Given the description of an element on the screen output the (x, y) to click on. 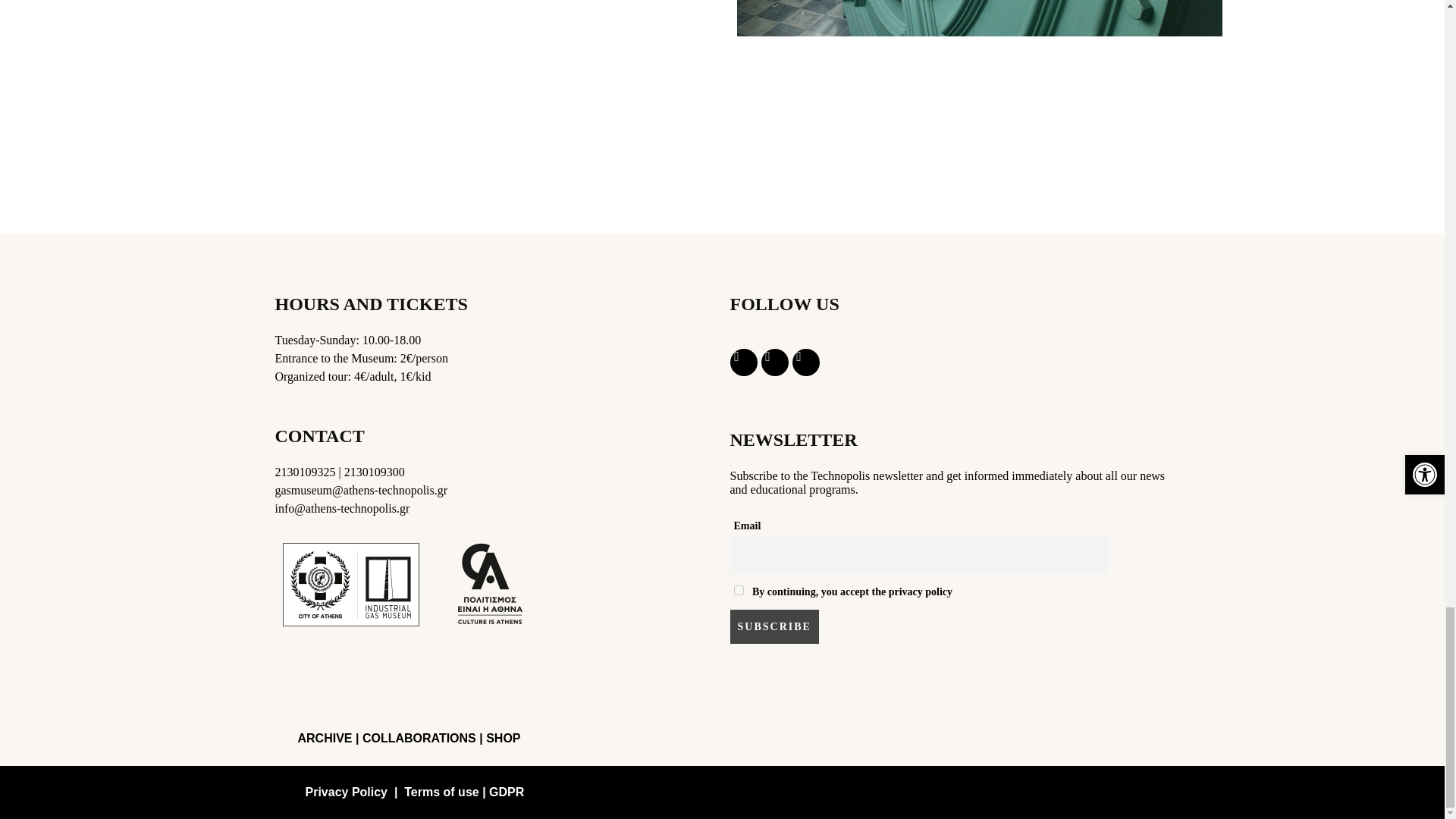
on (738, 590)
Subscribe (773, 626)
